Given the description of an element on the screen output the (x, y) to click on. 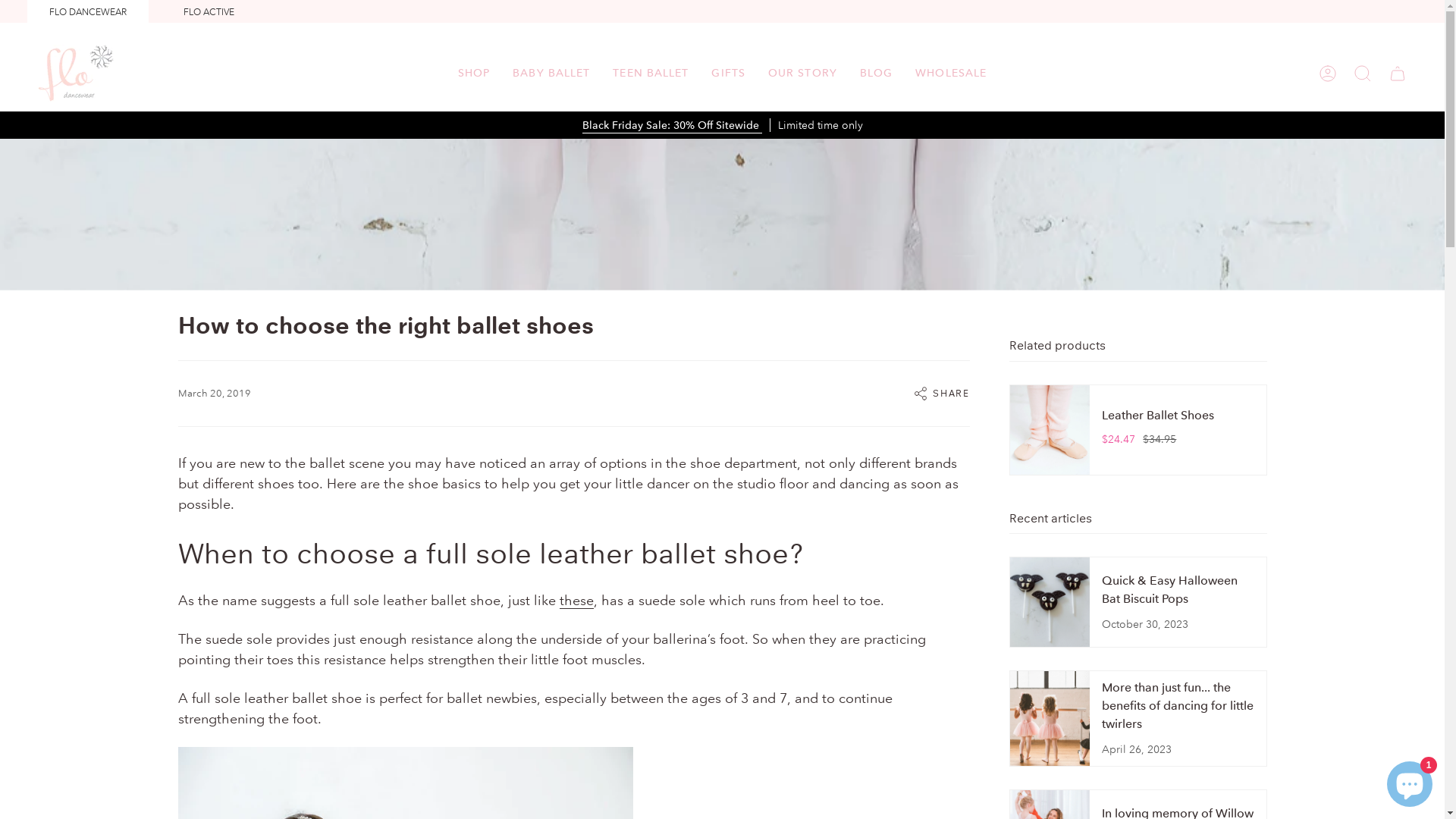
these Element type: text (576, 601)
Leather Ballet Shoes
$24.47 $34.95 Element type: text (1137, 429)
WHOLESALE Element type: text (950, 72)
FLO ACTIVE Element type: text (208, 11)
Shopify online store chat Element type: hover (1409, 780)
TEEN BALLET Element type: text (650, 72)
CART Element type: text (1397, 72)
Quick & Easy Halloween Bat Biscuit Pops
October 30, 2023 Element type: text (1137, 601)
FLO DANCEWEAR Element type: text (87, 11)
SHOP Element type: text (473, 72)
BABY BALLET Element type: text (551, 72)
OUR STORY Element type: text (802, 72)
ACCOUNT Element type: text (1327, 72)
SHARE Element type: text (941, 393)
BLOG Element type: text (875, 72)
Black Friday Sale: 30% Off Sitewide Element type: text (672, 126)
GIFTS Element type: text (727, 72)
